Given the description of an element on the screen output the (x, y) to click on. 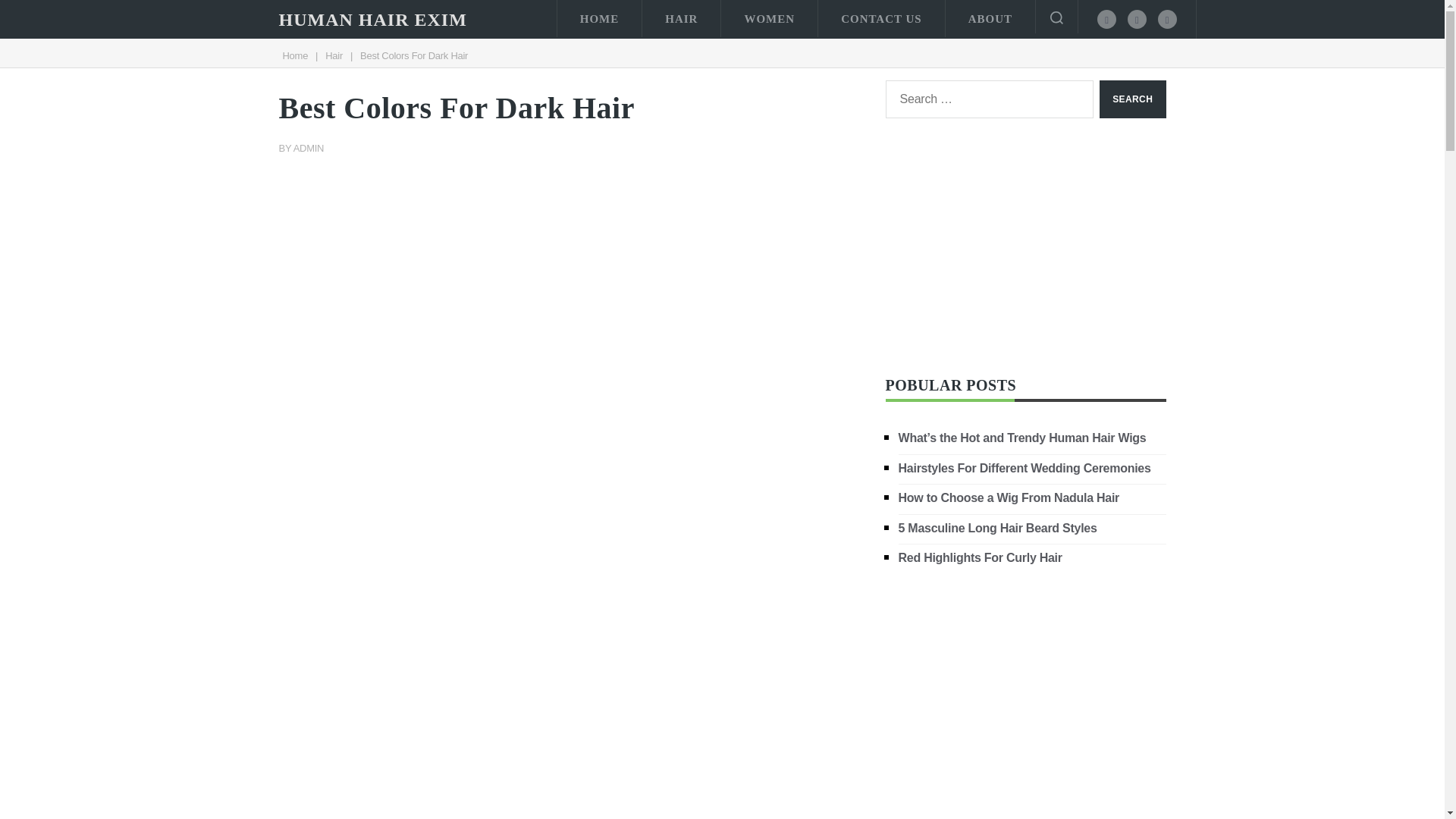
Advertisement (1025, 246)
HOME (599, 18)
HAIR (681, 18)
Google Plus G (1166, 18)
CONTACT US (881, 18)
Search (1132, 98)
Search (1132, 98)
Posts by Mark Hughman (309, 147)
Facebook (1106, 18)
WOMEN (768, 18)
Advertisement (1025, 697)
ADMIN (309, 147)
ABOUT (989, 18)
Advertisement (571, 286)
